Given the description of an element on the screen output the (x, y) to click on. 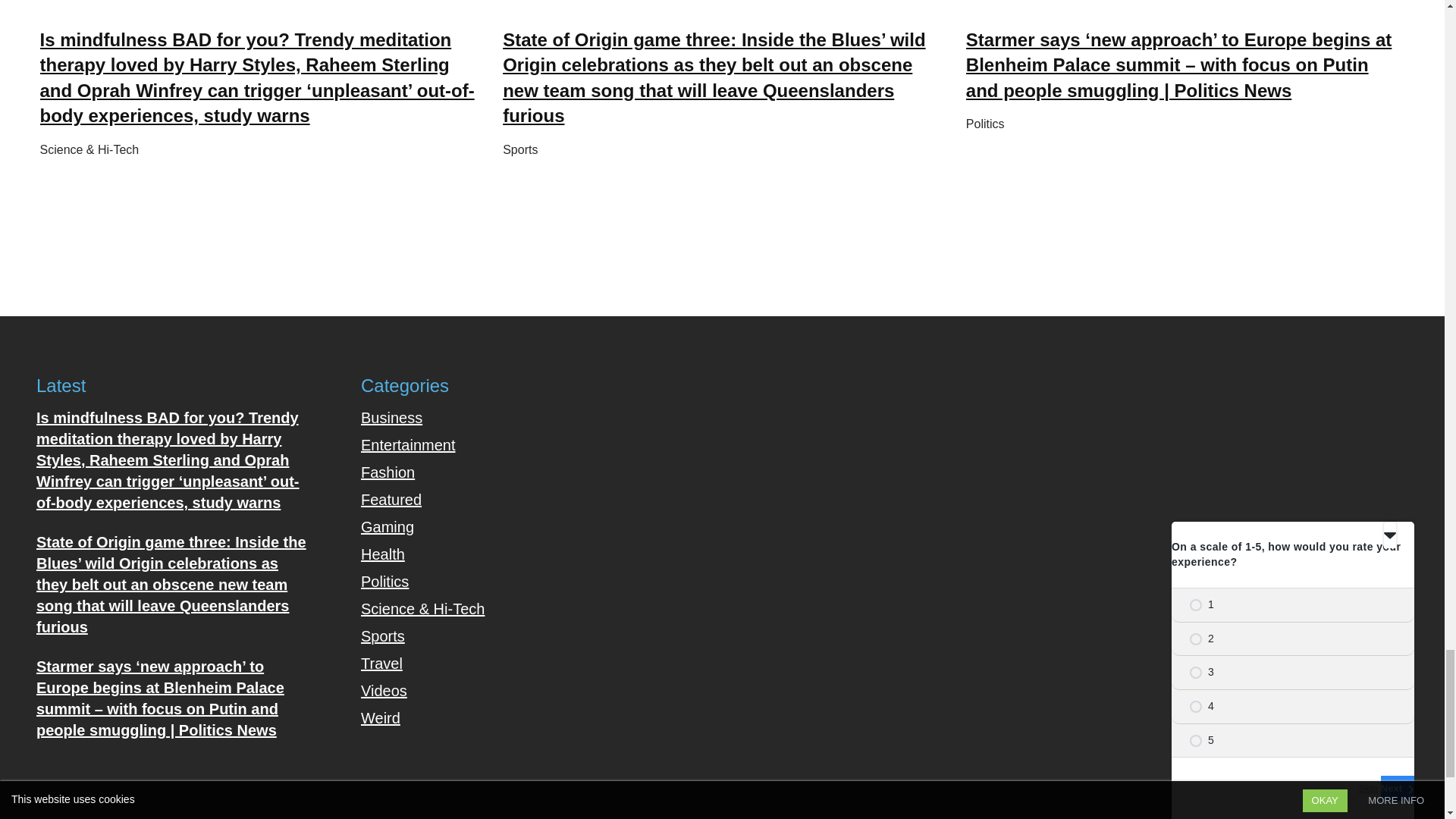
Politics (985, 124)
Featured (391, 499)
Entertainment (408, 444)
Business (391, 417)
Sports (519, 149)
Fashion (387, 472)
